Given the description of an element on the screen output the (x, y) to click on. 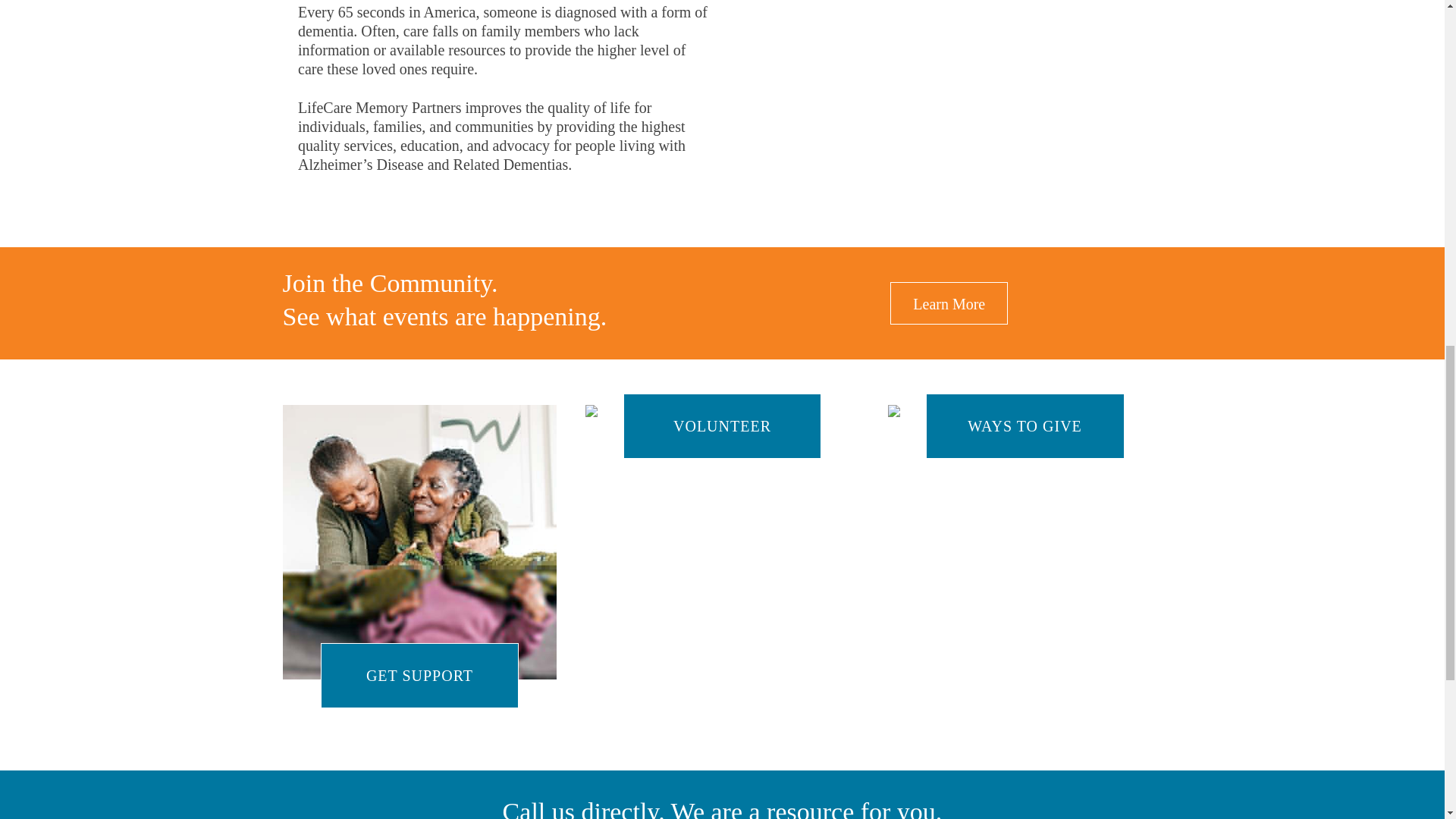
WAYS TO GIVE (1024, 425)
VOLUNTEER (722, 416)
GET SUPPORT (419, 675)
Learn More (948, 302)
GET SUPPORT (419, 541)
WAYS TO GIVE (1024, 416)
VOLUNTEER (721, 425)
